Given the description of an element on the screen output the (x, y) to click on. 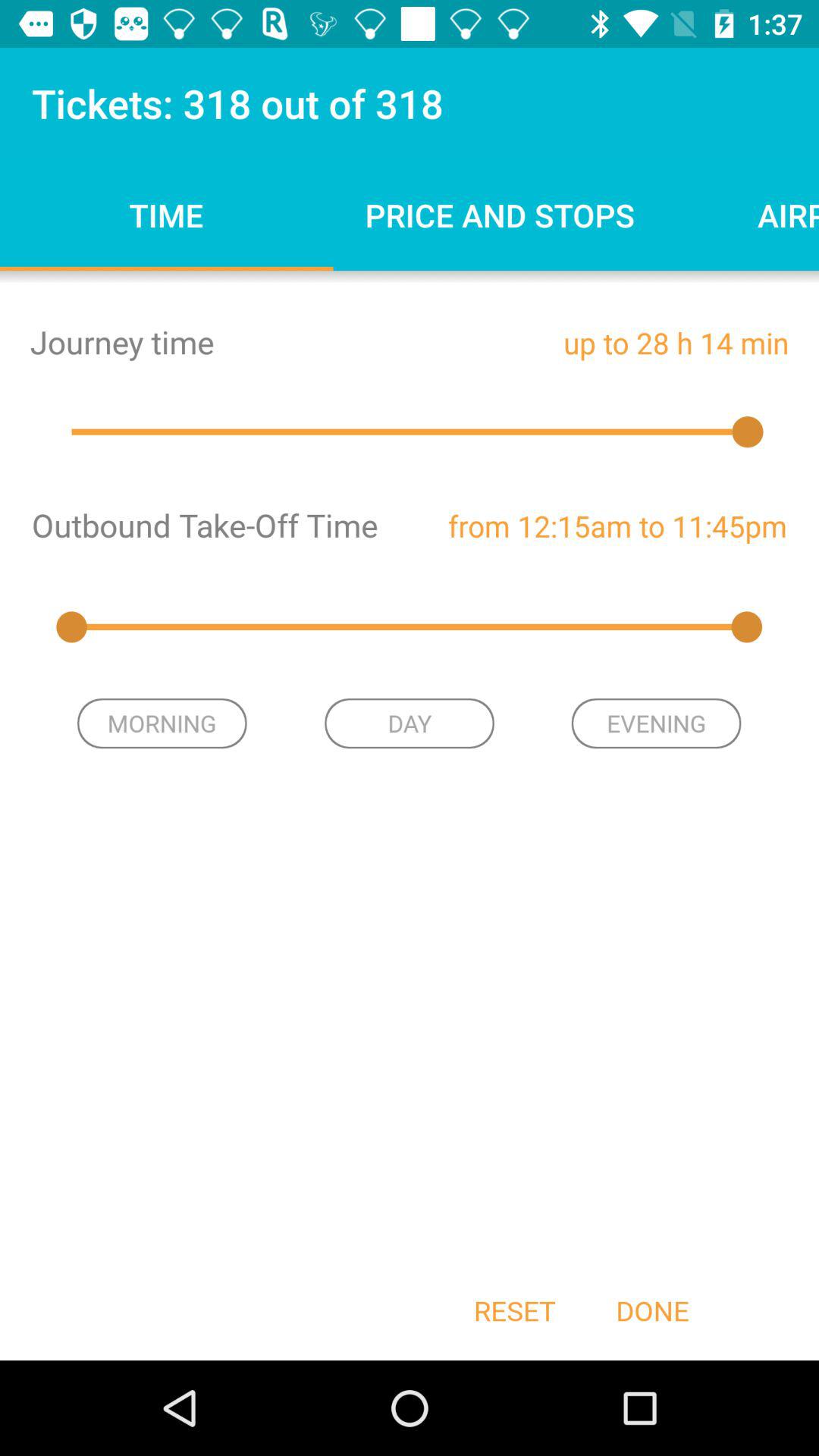
press the item next to reset (652, 1310)
